Given the description of an element on the screen output the (x, y) to click on. 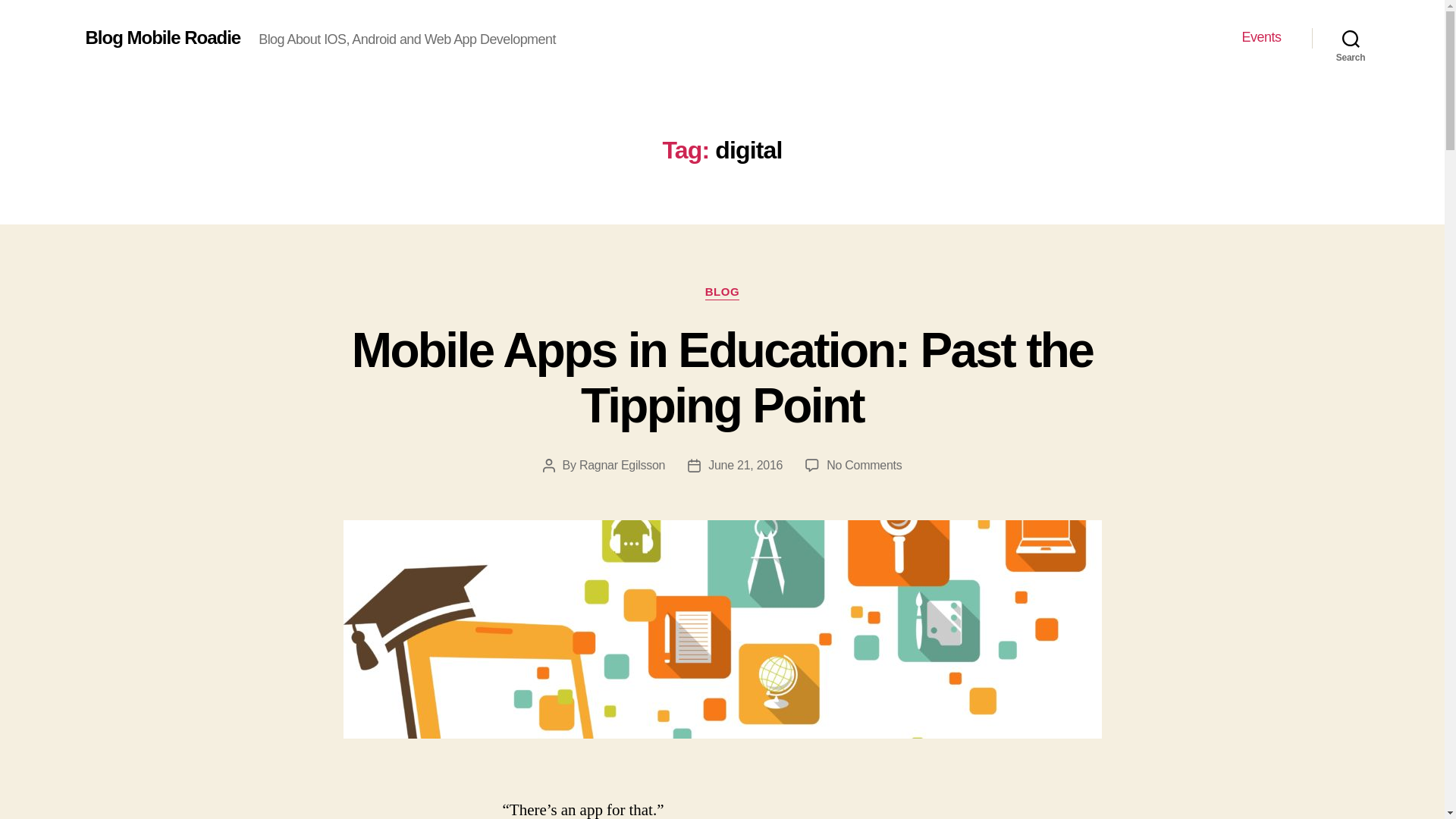
Blog Mobile Roadie (162, 37)
Mobile Apps in Education: Past the Tipping Point (722, 377)
BLOG (721, 292)
Events (1261, 37)
June 21, 2016 (745, 464)
Ragnar Egilsson (622, 464)
Search (1350, 37)
